Given the description of an element on the screen output the (x, y) to click on. 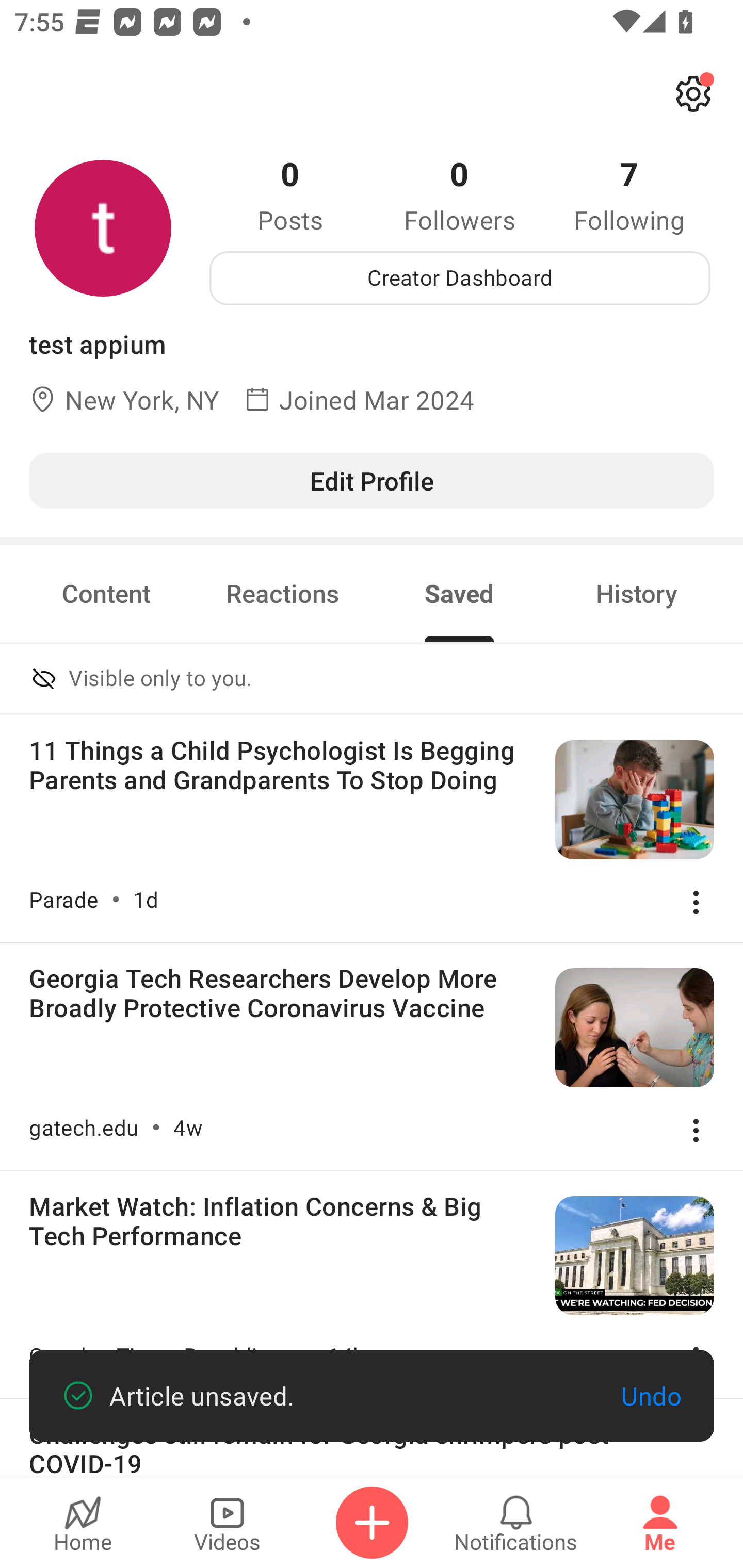
0 Followers (459, 194)
7 Following (629, 194)
Creator Dashboard (459, 277)
Edit Profile (371, 480)
Content (105, 593)
Reactions (282, 593)
History (636, 593)
Home (83, 1522)
Videos (227, 1522)
Notifications (516, 1522)
